Given the description of an element on the screen output the (x, y) to click on. 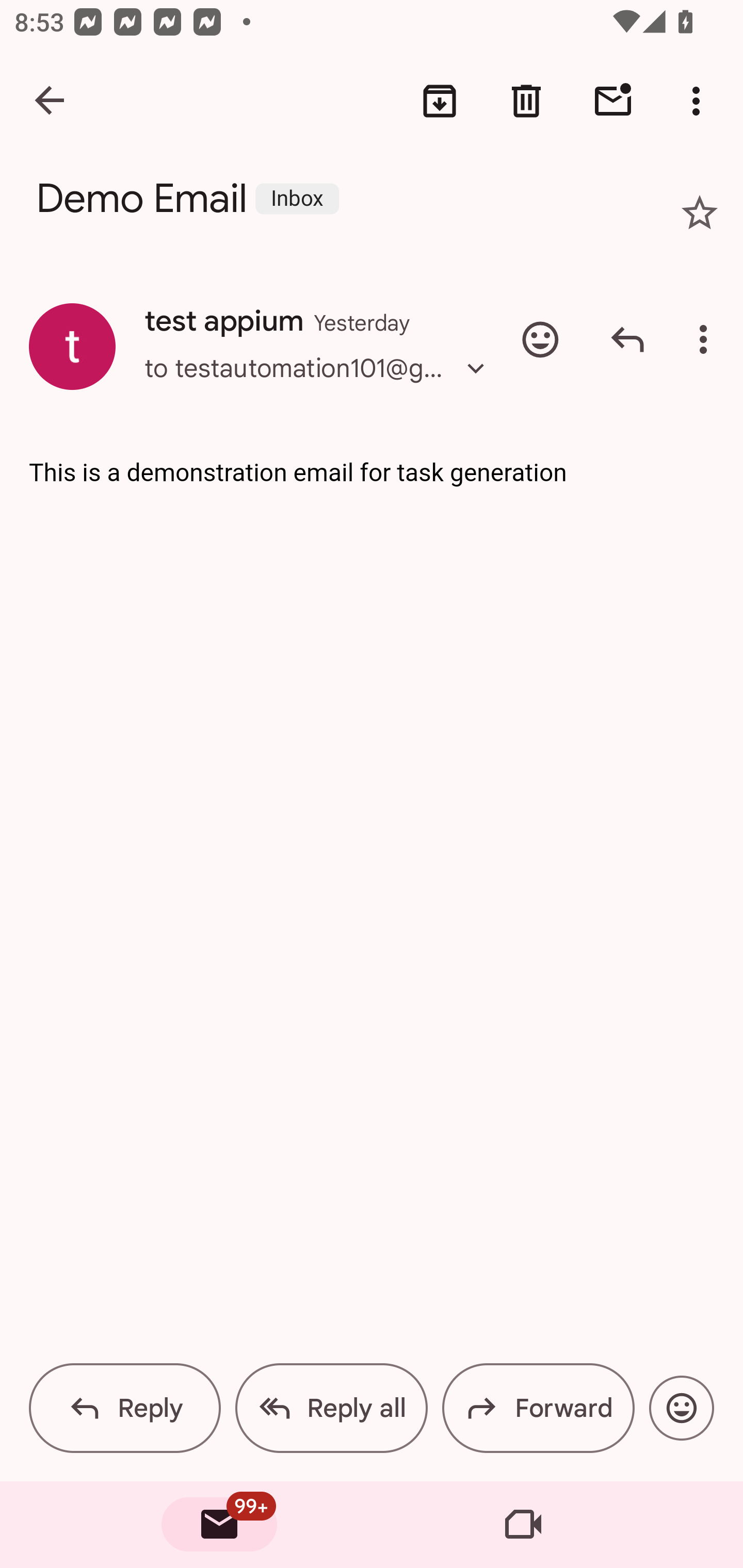
Navigate up (50, 101)
Archive (439, 101)
Delete (525, 101)
Mark unread (612, 101)
More options (699, 101)
Add star (699, 212)
Add emoji reaction (540, 339)
Reply (626, 339)
More options (706, 339)
Show contact information for test appium (71, 346)
to testautomation101@gmail.com (320, 386)
Reply (124, 1407)
Reply all (331, 1407)
Forward (538, 1407)
Add emoji reaction (681, 1407)
Meet (523, 1524)
